Given the description of an element on the screen output the (x, y) to click on. 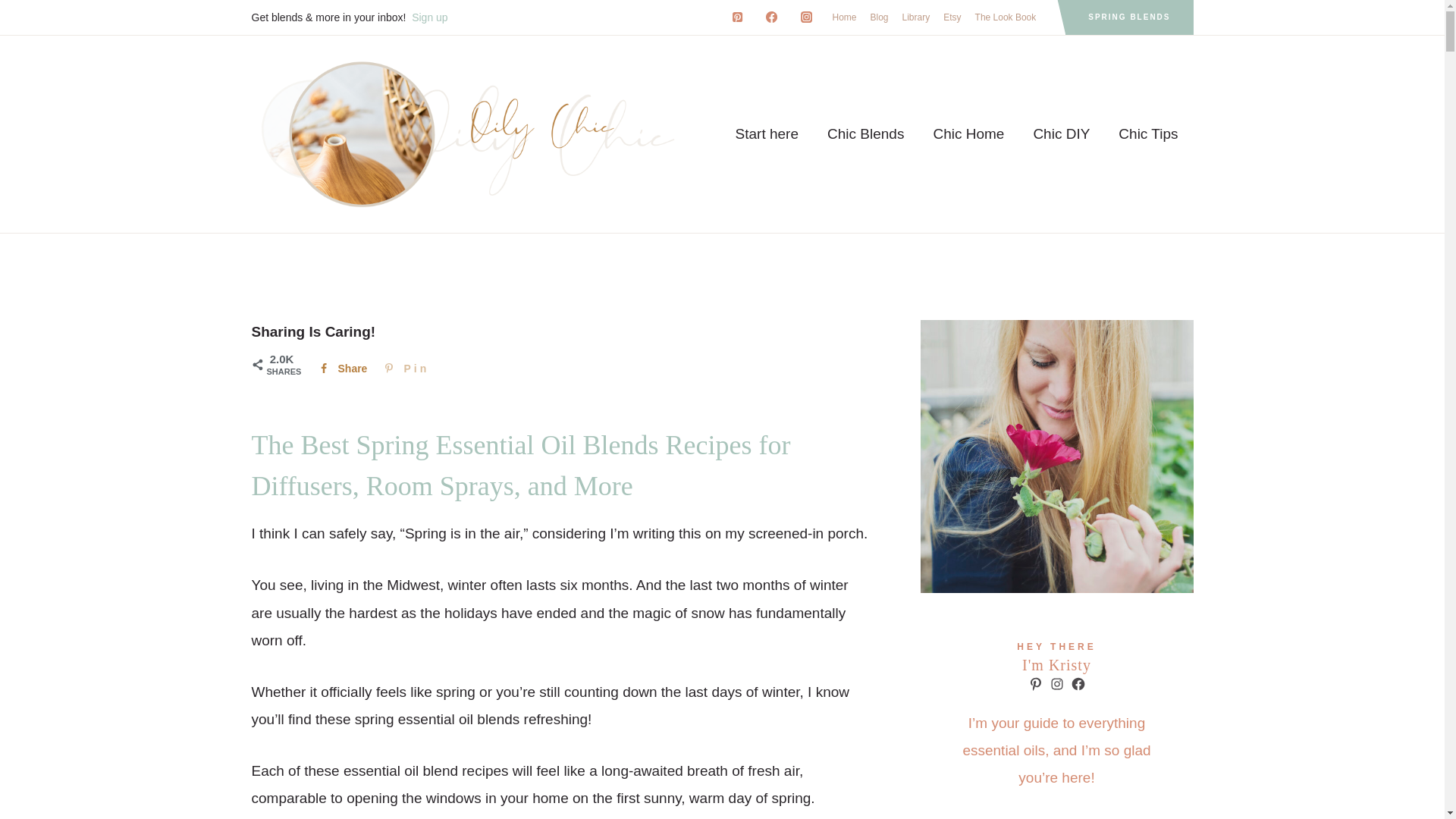
Chic DIY (1060, 134)
Share (340, 368)
Sign up (429, 17)
Blog (879, 17)
Library (916, 17)
Save to Pinterest (404, 368)
Chic Blends (865, 134)
Home (844, 17)
SPRING BLENDS (1128, 17)
Pin (404, 368)
Chic Tips (1147, 134)
Share on Facebook (340, 368)
The Look Book (1005, 17)
Start here (766, 134)
Etsy (952, 17)
